Given the description of an element on the screen output the (x, y) to click on. 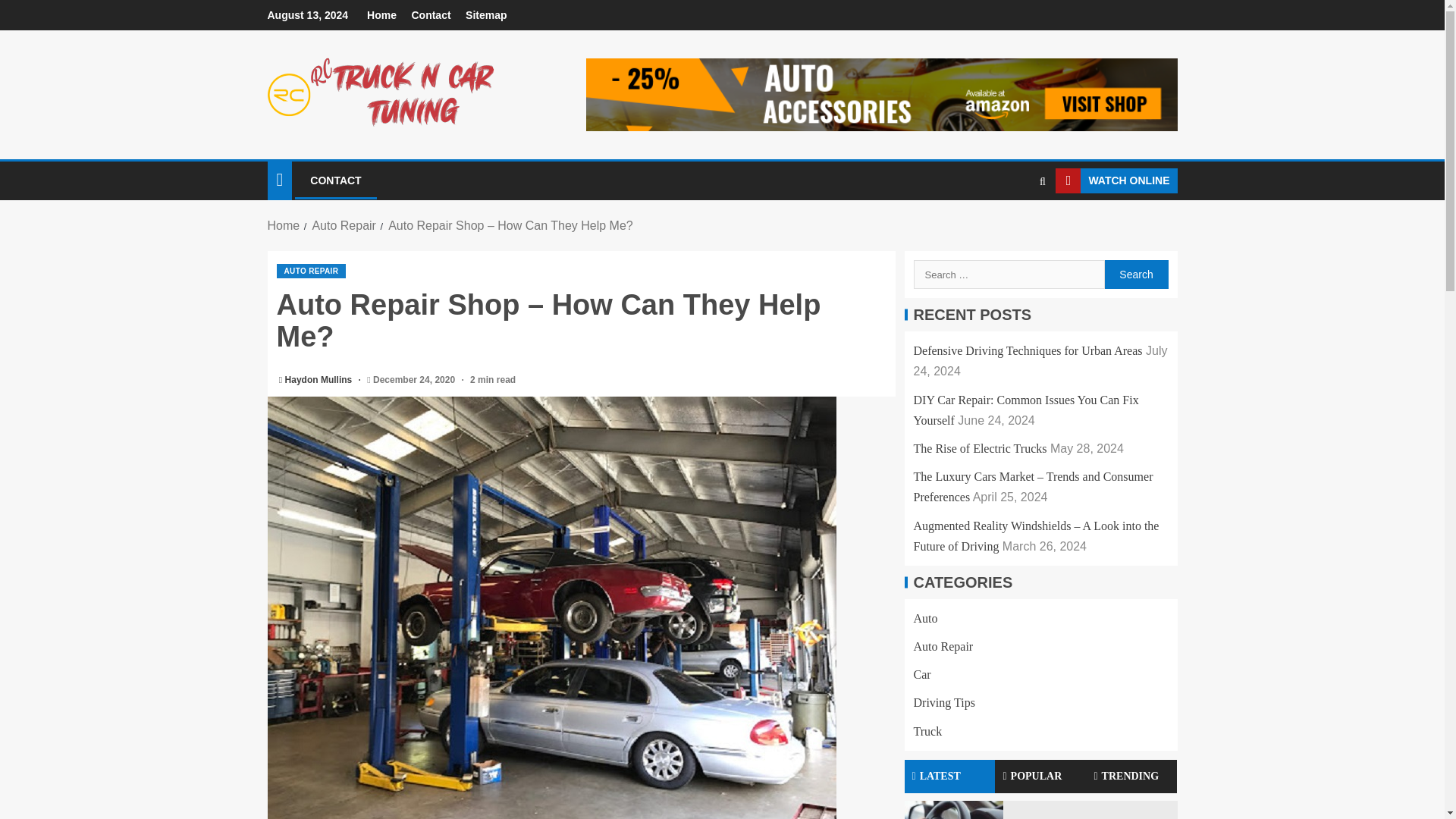
Auto Repair (343, 225)
CONTACT (335, 180)
Search (1135, 274)
Search (1135, 274)
Haydon Mullins (320, 379)
AUTO REPAIR (311, 270)
Contact (429, 15)
Search (1013, 226)
The Rise of Electric Trucks (979, 448)
Sitemap (485, 15)
